Given the description of an element on the screen output the (x, y) to click on. 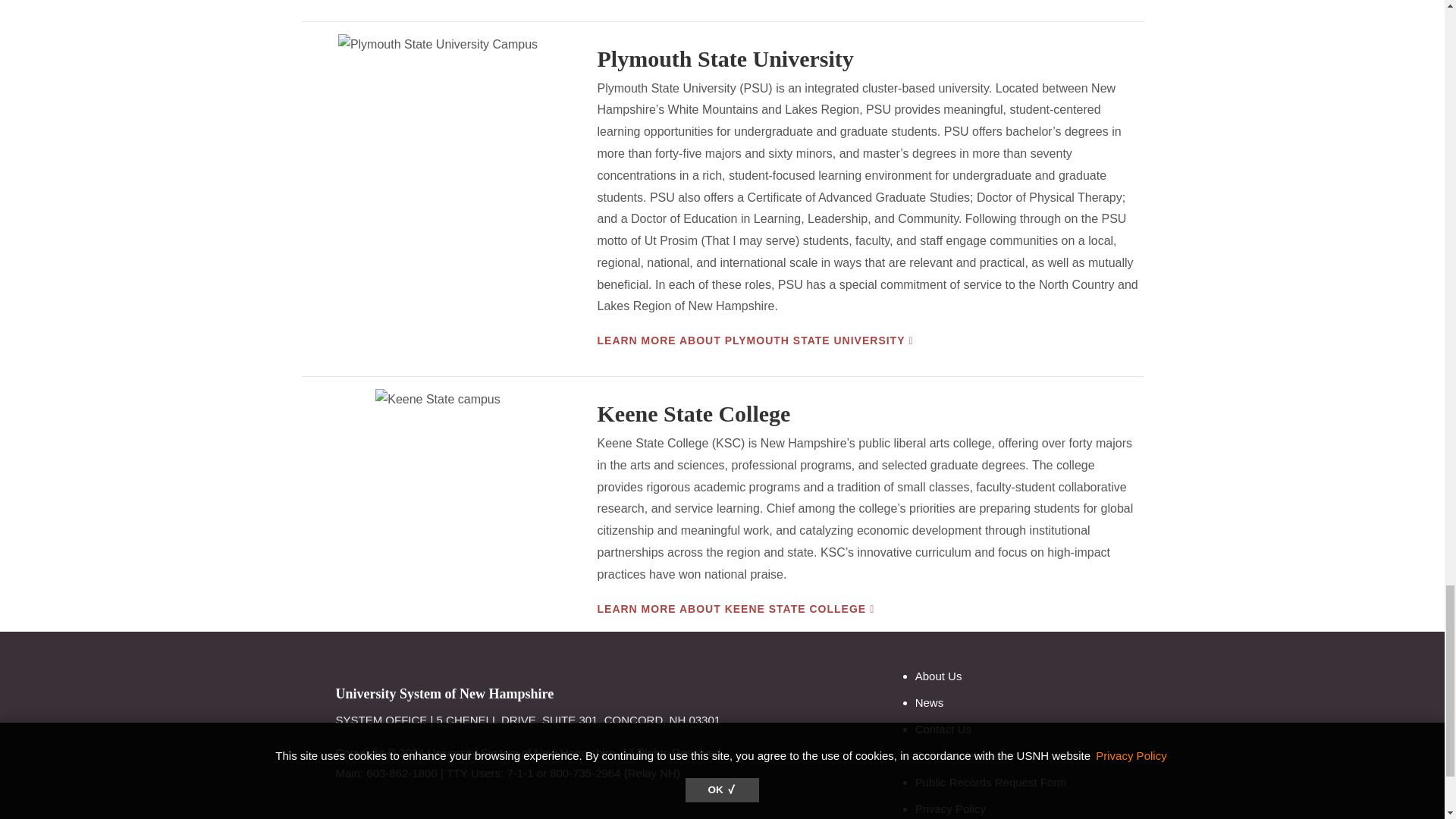
News (929, 702)
E. Privacy Policy (950, 808)
USNH Webmaster Contact Form (964, 755)
About USNH (938, 675)
Contact Us (943, 728)
